Given the description of an element on the screen output the (x, y) to click on. 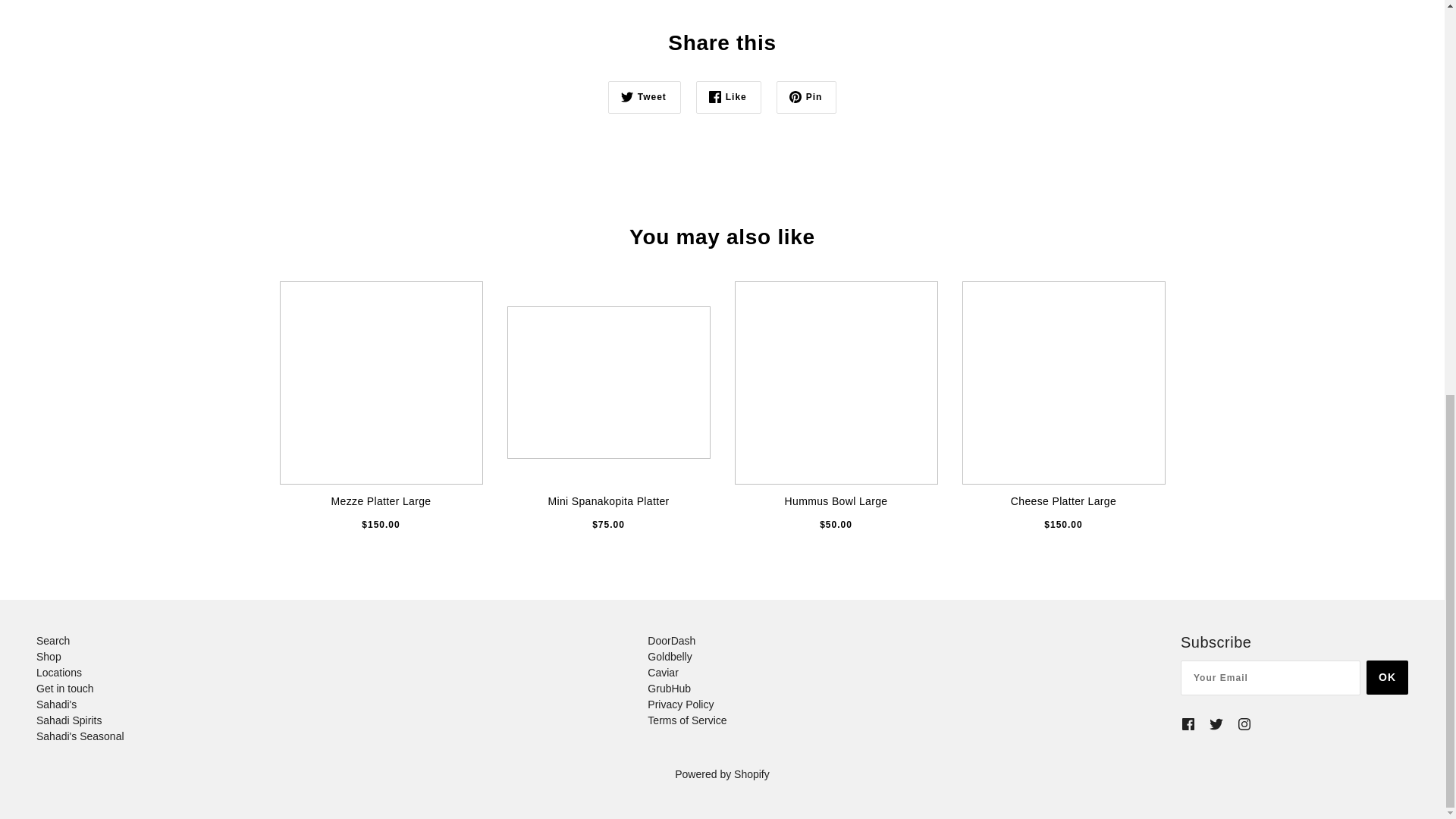
Sahadi's Seasonal (79, 736)
Tweet (644, 97)
Pin (806, 97)
Terms of Service (686, 720)
Like (728, 97)
DoorDash (671, 640)
Shop (48, 656)
GrubHub (668, 688)
Sahadi's (56, 704)
Locations (58, 672)
Get in touch (65, 688)
Privacy Policy (680, 704)
Search (52, 640)
Sahadi Spirits (68, 720)
Goldbelly (669, 656)
